Given the description of an element on the screen output the (x, y) to click on. 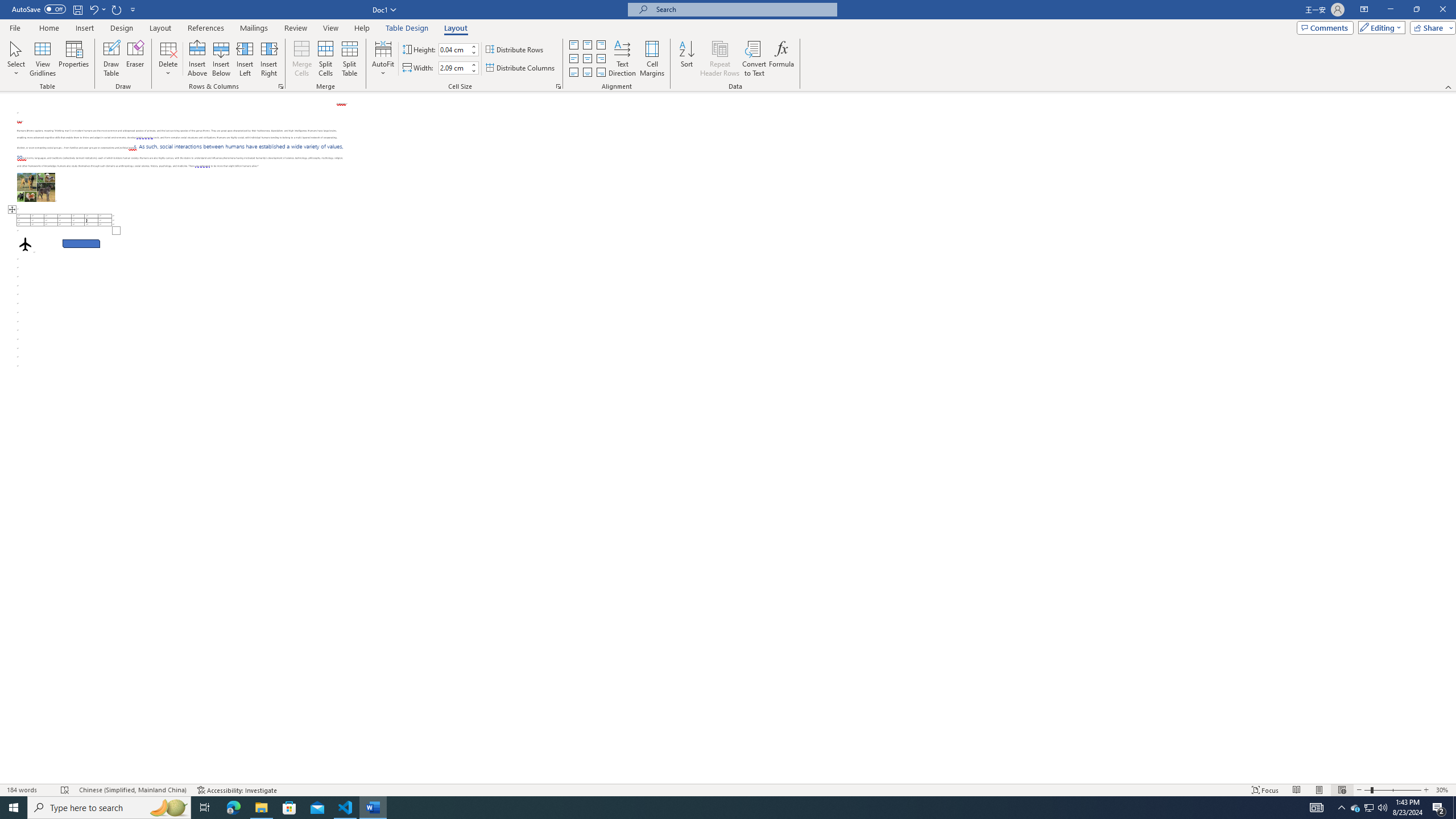
Word Count 184 words (28, 790)
Language Chinese (Simplified, Mainland China) (132, 790)
Microsoft search (742, 9)
Align Bottom Justified (573, 72)
Zoom 30% (1443, 790)
AutoFit (383, 58)
Zoom In (1426, 790)
Insert (83, 28)
Sort... (686, 58)
Align Top Justified (573, 44)
